Given the description of an element on the screen output the (x, y) to click on. 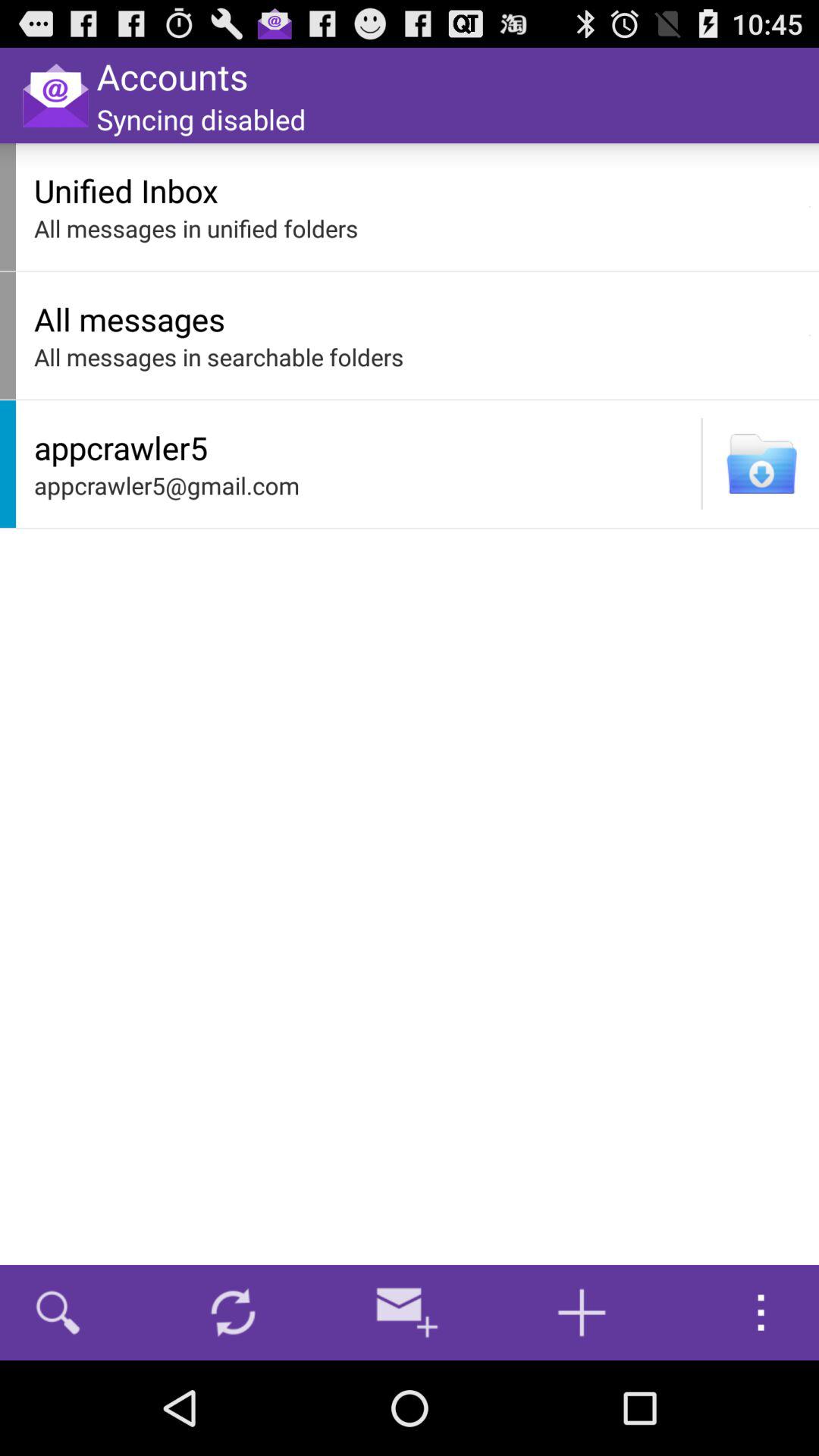
select the icon next to the unified inbox app (809, 206)
